Given the description of an element on the screen output the (x, y) to click on. 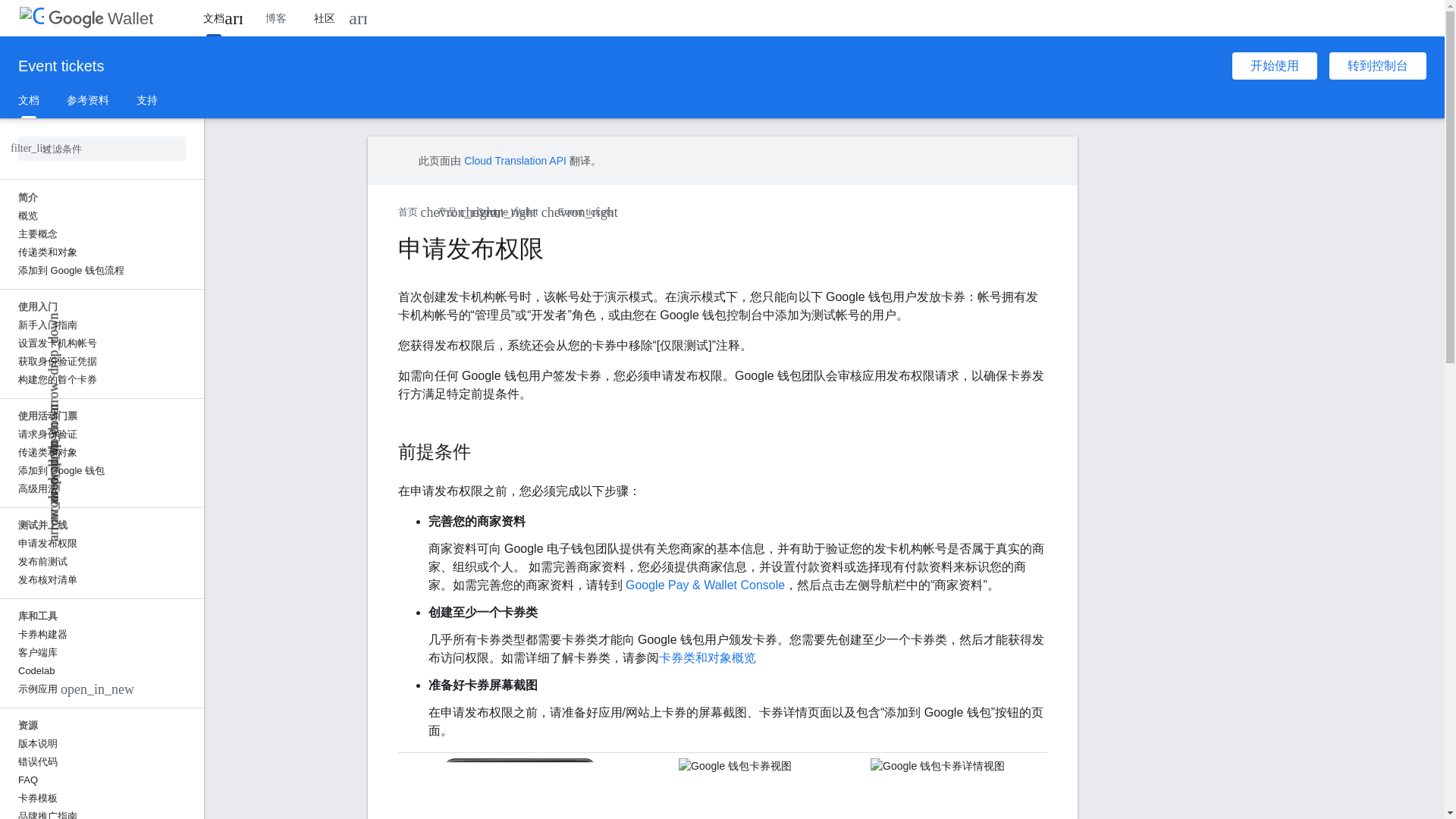
Wallet (100, 18)
Event tickets (60, 65)
